Given the description of an element on the screen output the (x, y) to click on. 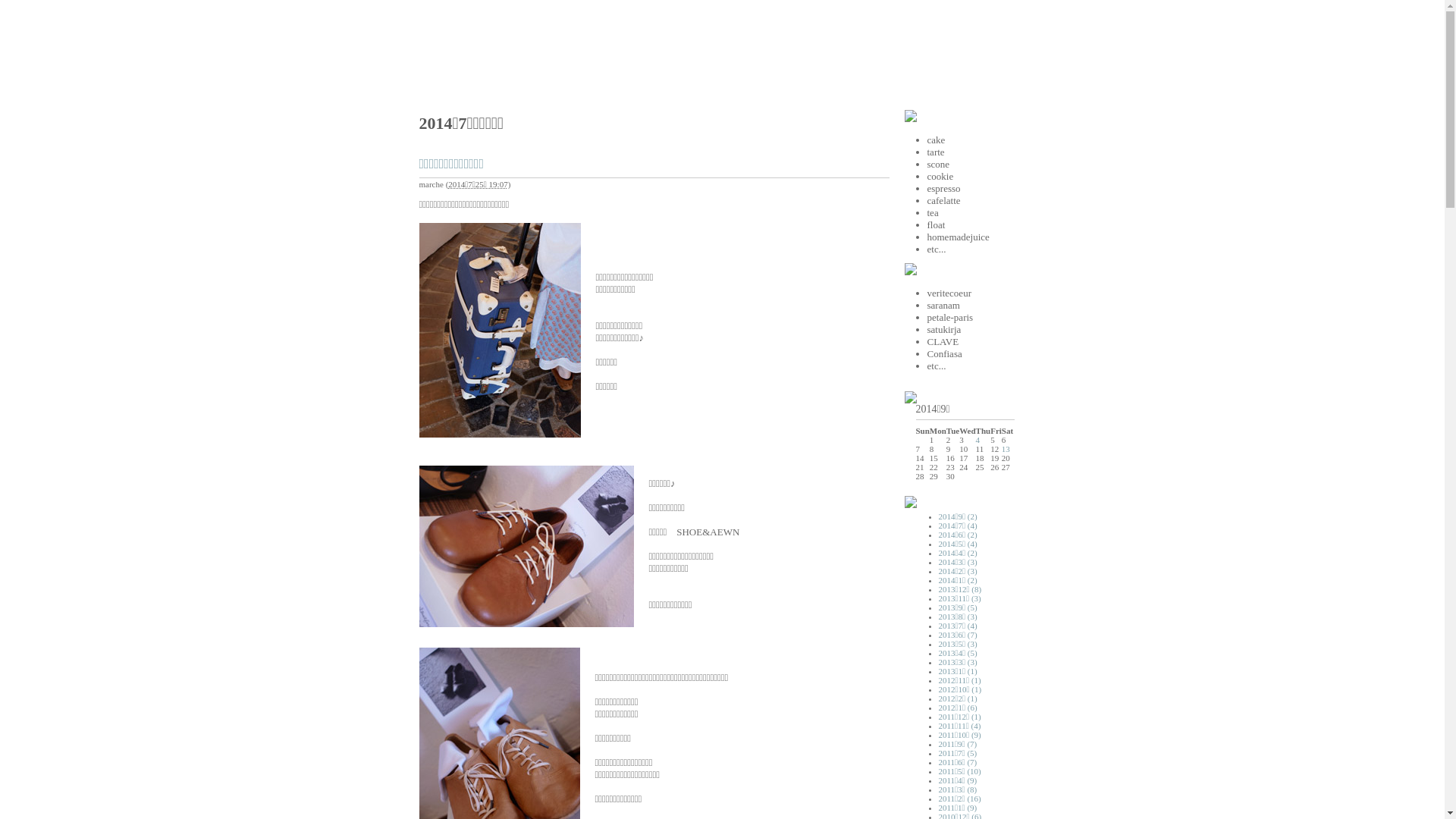
4 Element type: text (977, 439)
13 Element type: text (1005, 448)
